Given the description of an element on the screen output the (x, y) to click on. 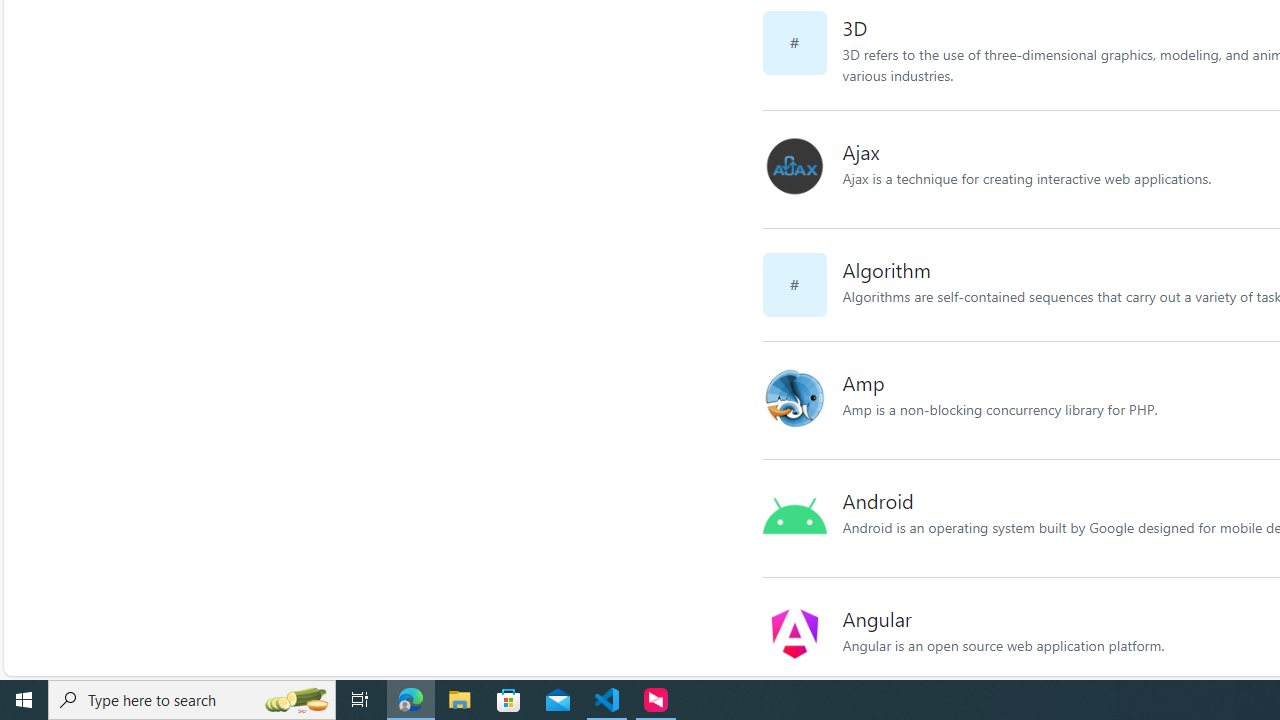
# (802, 284)
amphp (802, 399)
ajax (802, 169)
amphp (793, 397)
android (793, 515)
angular (793, 633)
ajax (793, 166)
android (802, 517)
angular (802, 636)
